Given the description of an element on the screen output the (x, y) to click on. 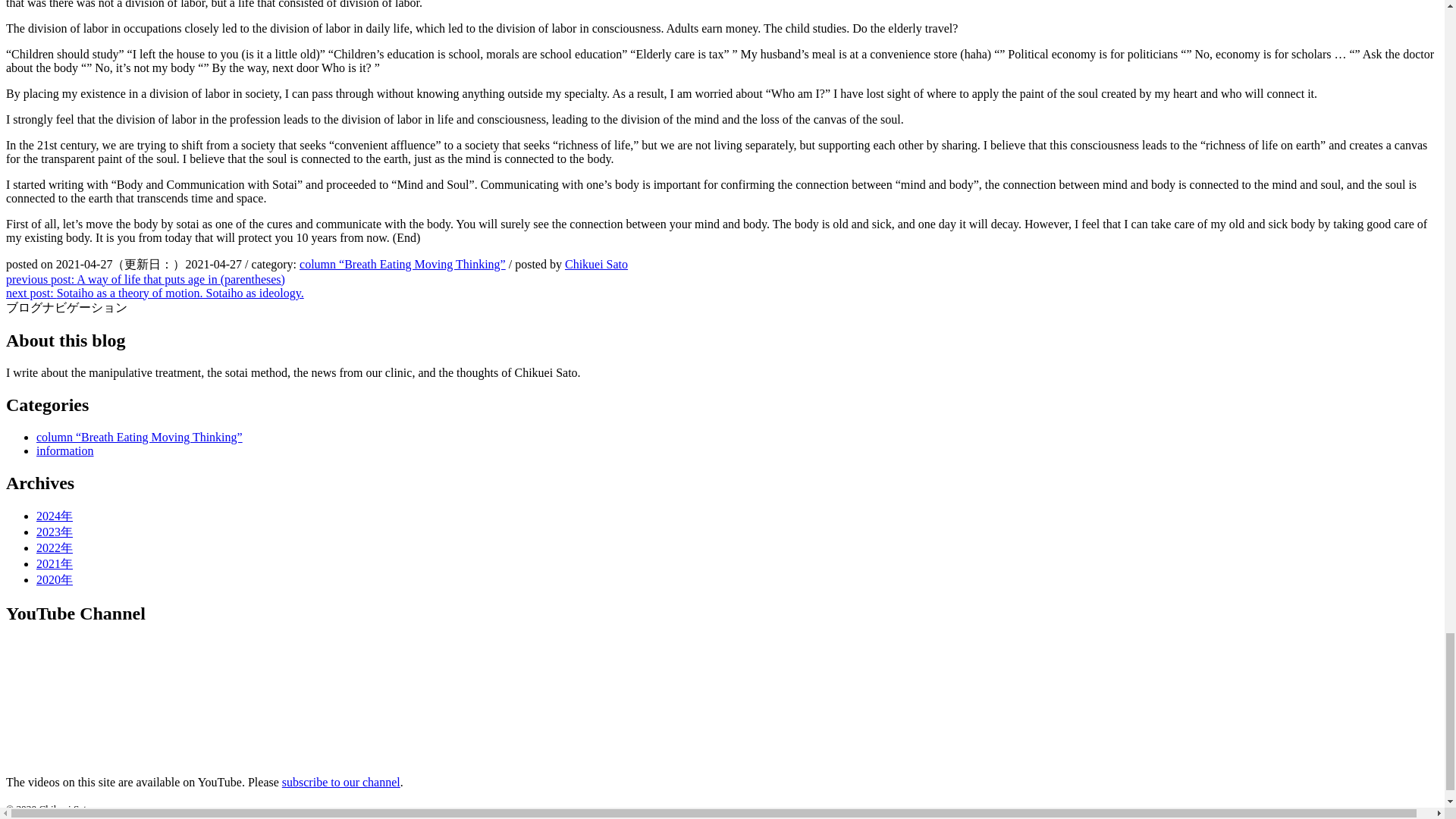
Chikuei Sato (595, 264)
information (65, 450)
subscribe to our channel (341, 781)
